Given the description of an element on the screen output the (x, y) to click on. 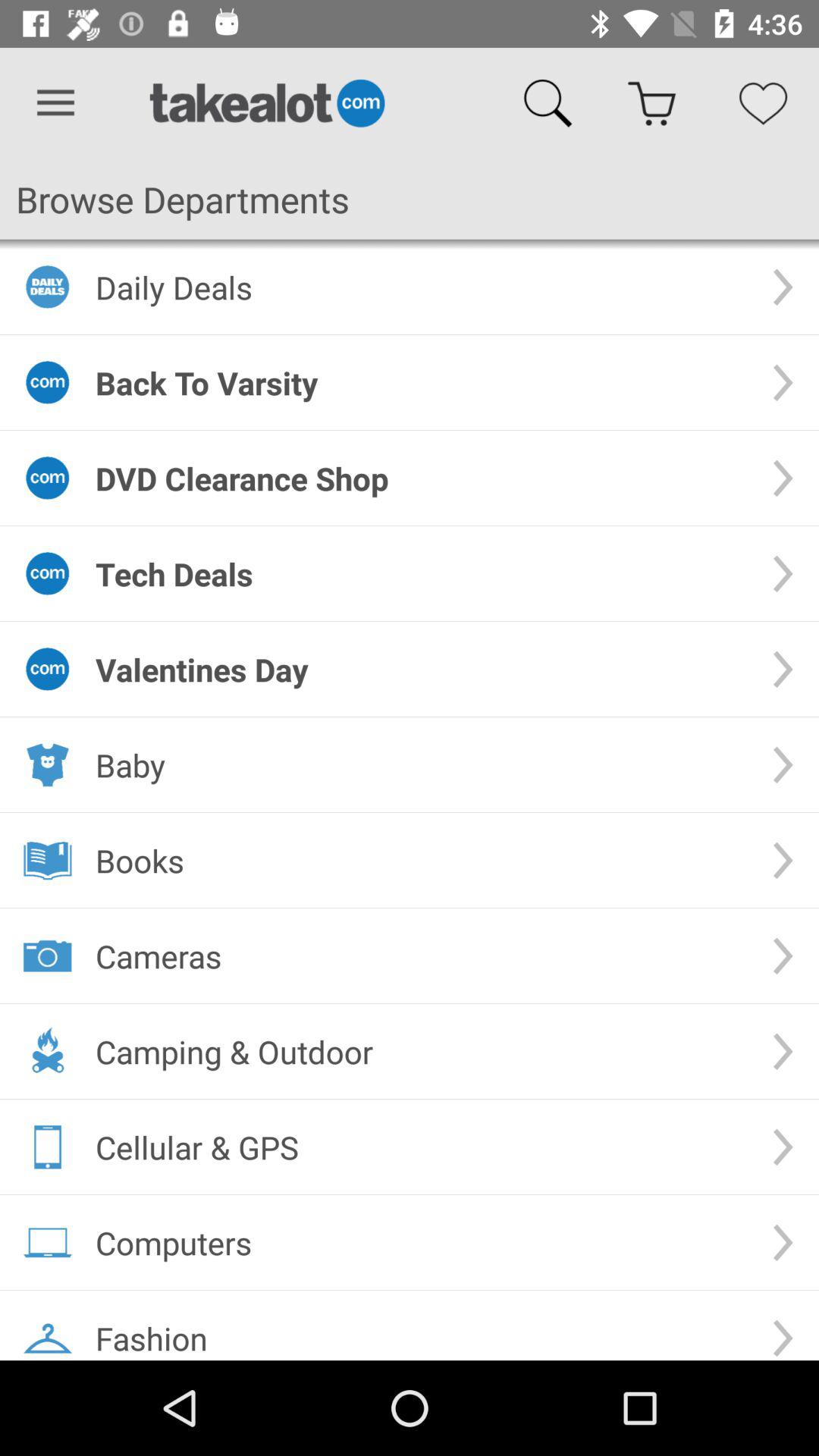
click the icon below the valentines day (421, 764)
